Given the description of an element on the screen output the (x, y) to click on. 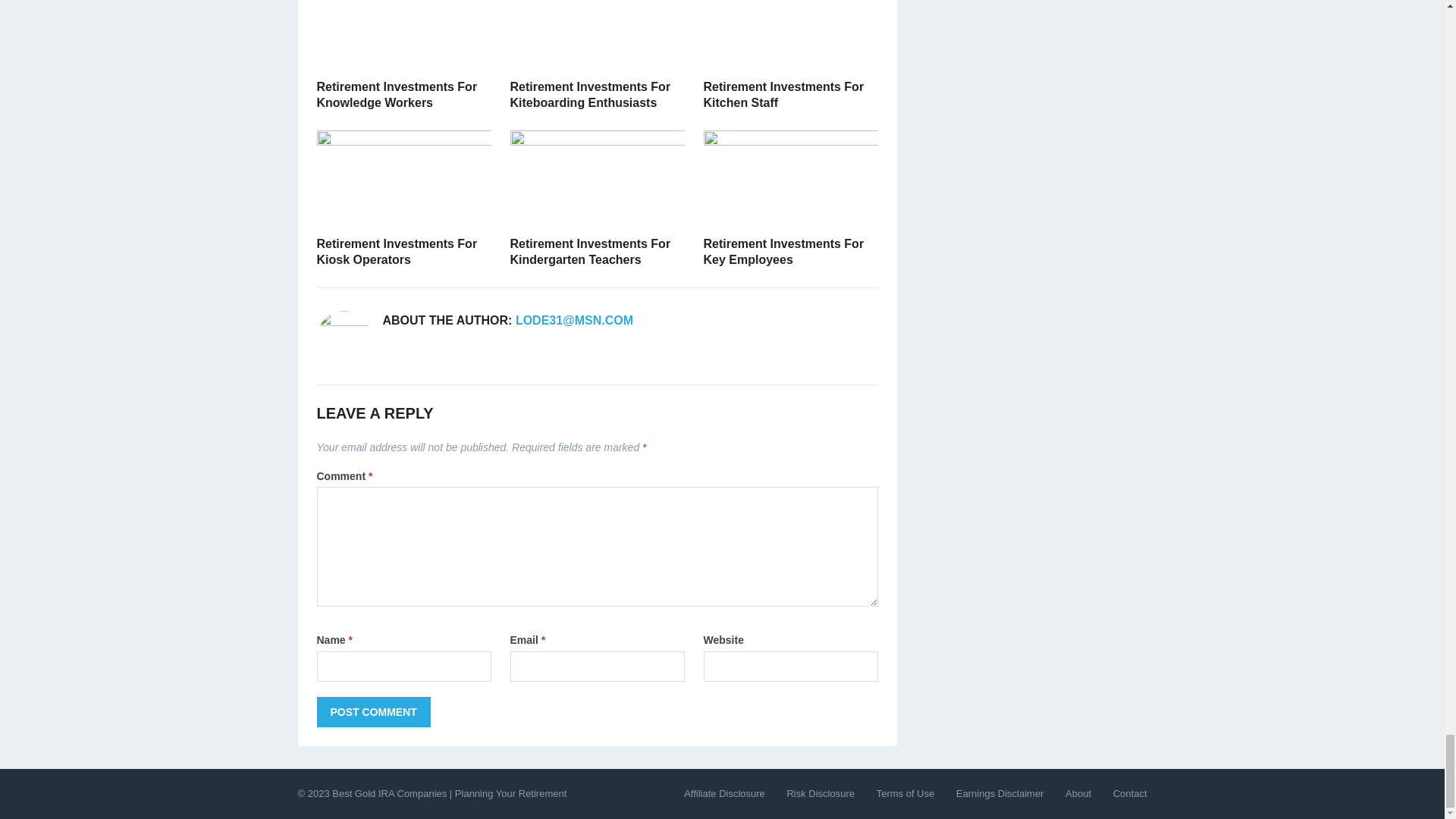
Post Comment (373, 711)
